Given the description of an element on the screen output the (x, y) to click on. 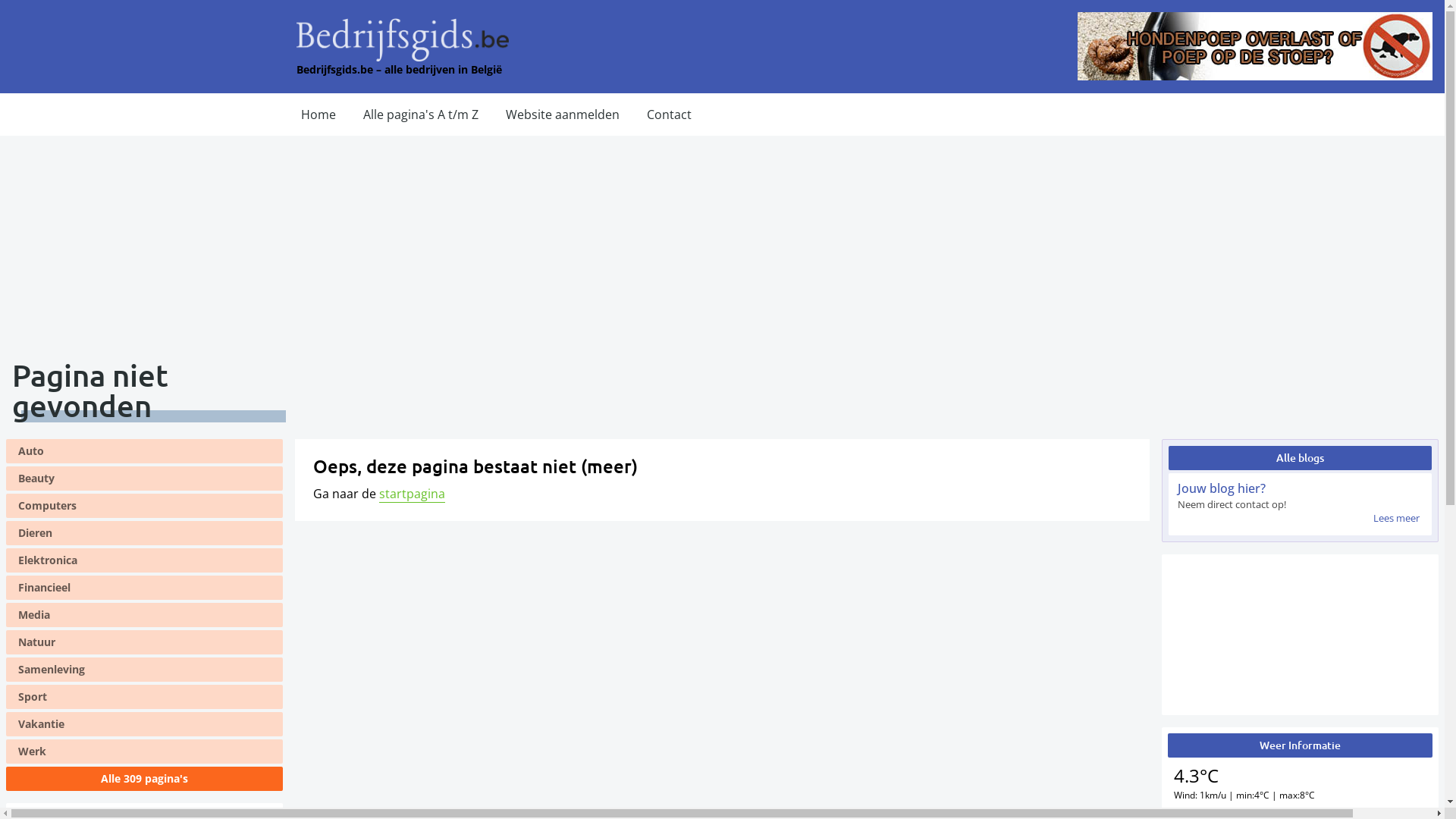
Alle pagina's A t/m Z Element type: text (420, 114)
Samenleving Element type: text (144, 669)
Auto Element type: text (144, 451)
startpagina Element type: text (412, 493)
Home Element type: text (318, 114)
M&M WebMedia animatievideo Element type: hover (1299, 634)
Beauty Element type: text (144, 478)
Vakantie Element type: text (144, 724)
Jouw blog hier?
Neem direct contact op!
Lees meer Element type: text (1299, 504)
Website aanmelden Element type: text (562, 114)
Elektronica Element type: text (144, 560)
Alle 309 pagina's Element type: text (144, 778)
Media Element type: text (144, 614)
Contact Element type: text (668, 114)
Natuur Element type: text (144, 642)
Sport Element type: text (144, 696)
Financieel Element type: text (144, 587)
Computers Element type: text (144, 505)
Werk Element type: text (144, 751)
Dieren Element type: text (144, 532)
